Given the description of an element on the screen output the (x, y) to click on. 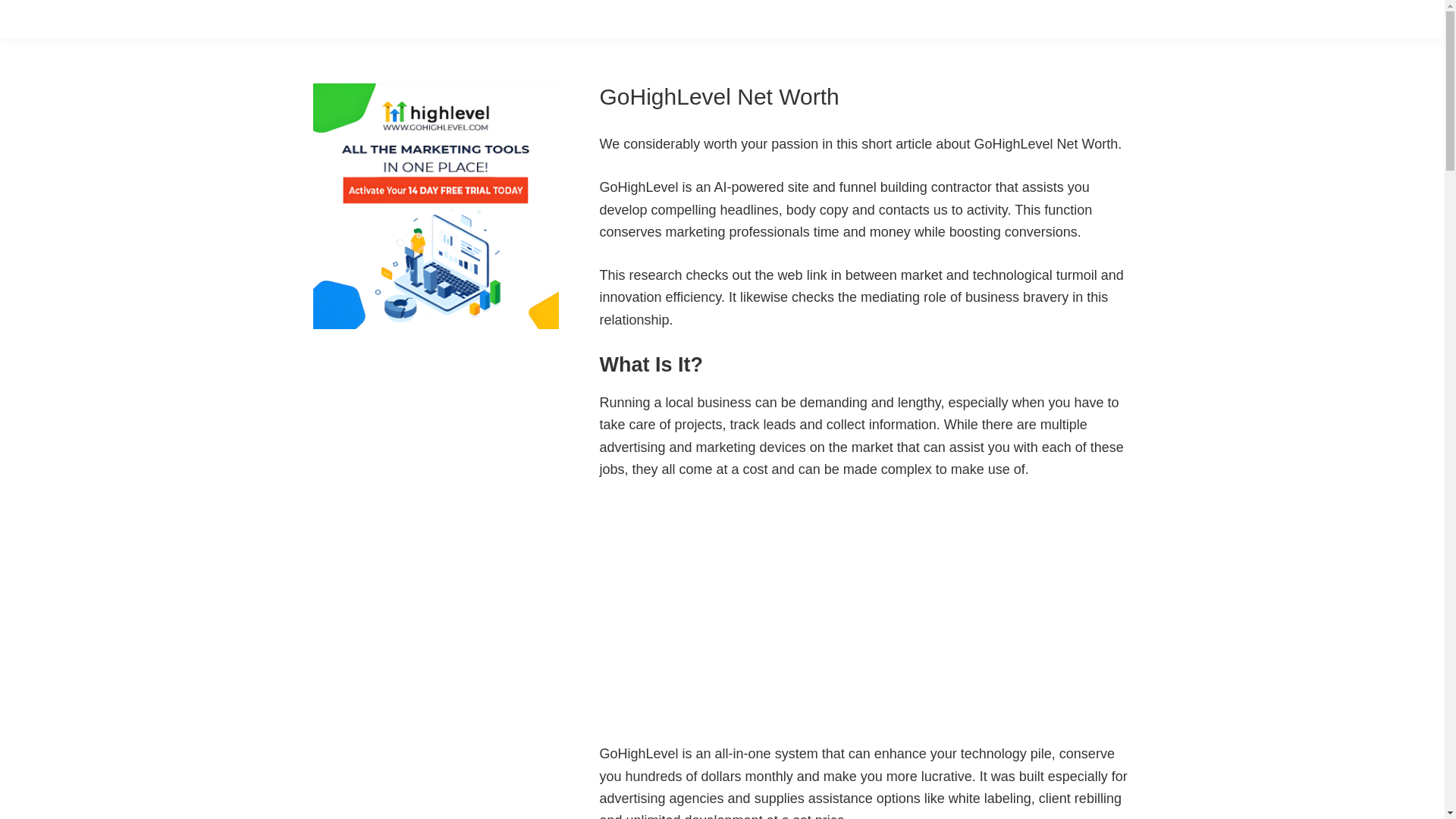
Welcome To HighLevel (788, 608)
